Given the description of an element on the screen output the (x, y) to click on. 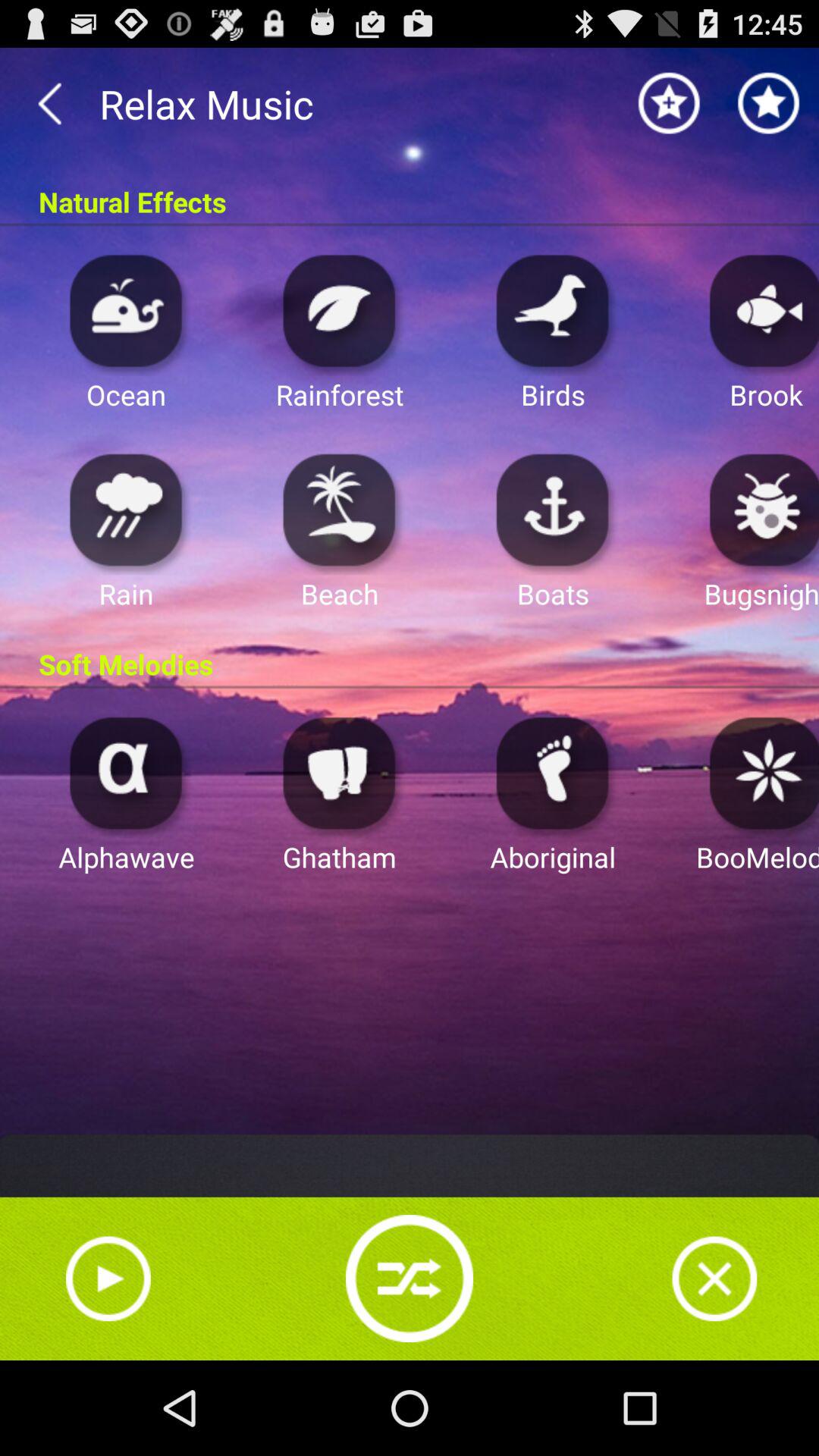
favourites (769, 103)
